Given the description of an element on the screen output the (x, y) to click on. 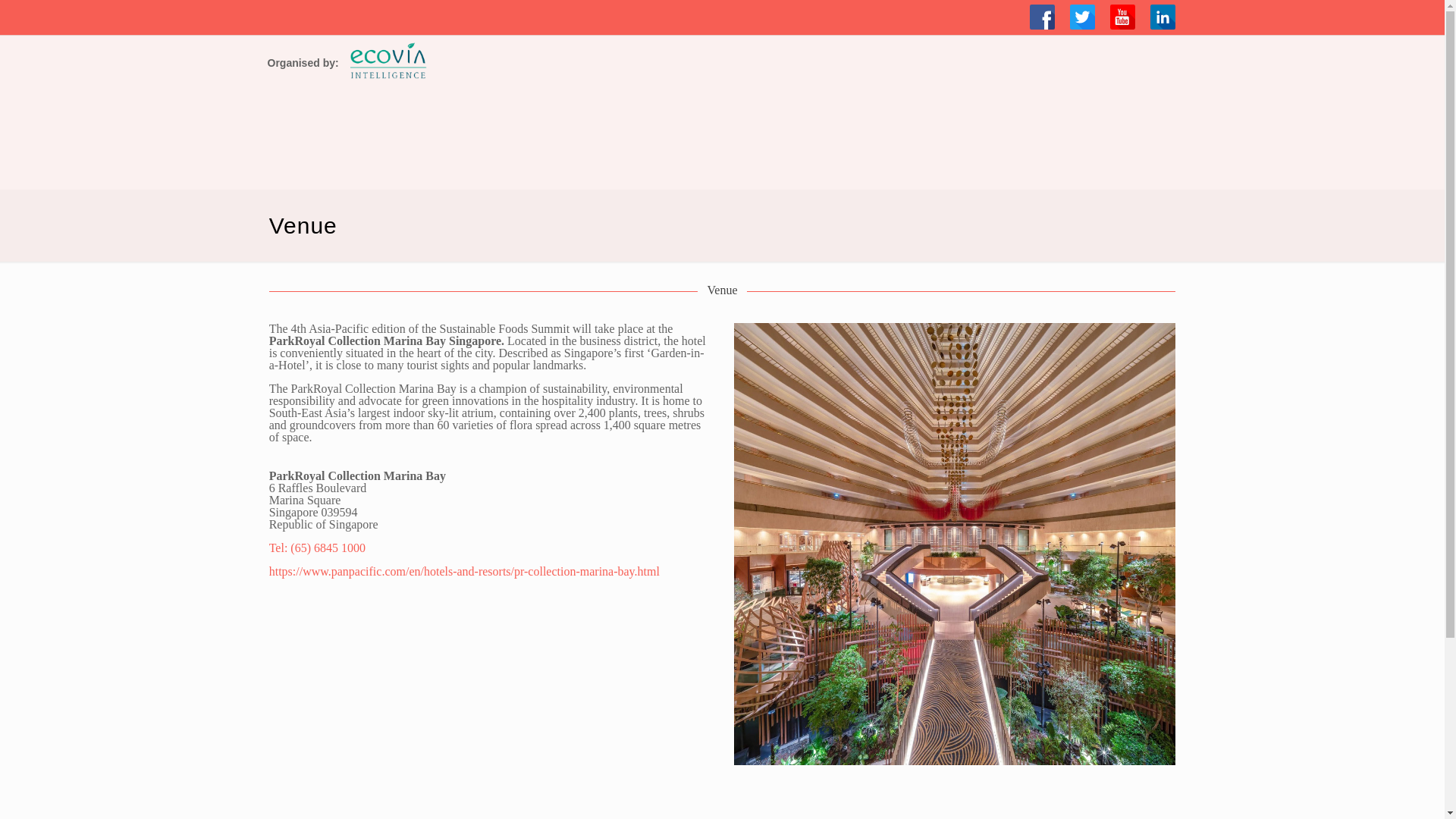
YouTube (1122, 16)
Facebook (1041, 16)
Twitter (1082, 16)
LinkedIn (1162, 16)
